Given the description of an element on the screen output the (x, y) to click on. 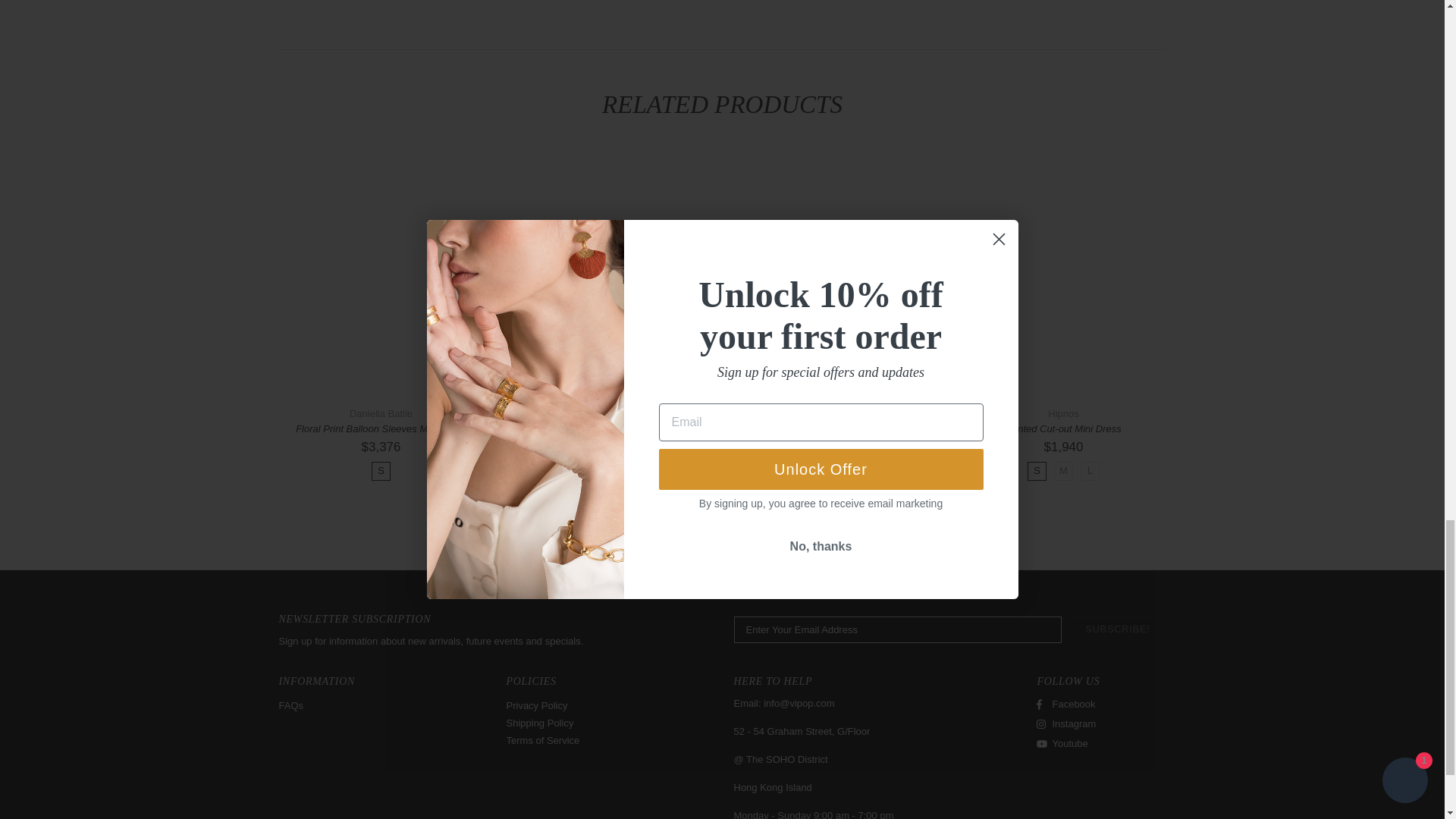
email address (798, 703)
SUBSCRIBE! (1117, 629)
